Given the description of an element on the screen output the (x, y) to click on. 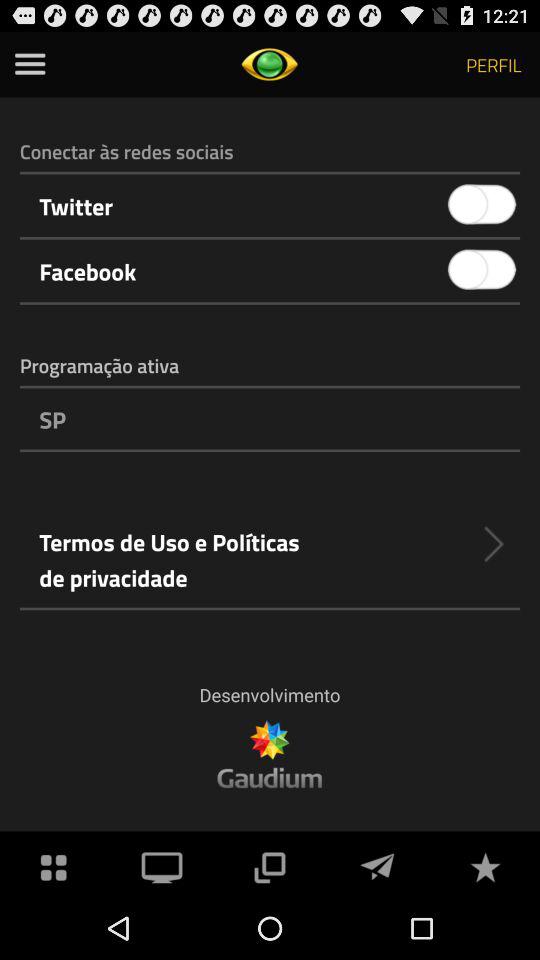
menu icon (29, 64)
